Given the description of an element on the screen output the (x, y) to click on. 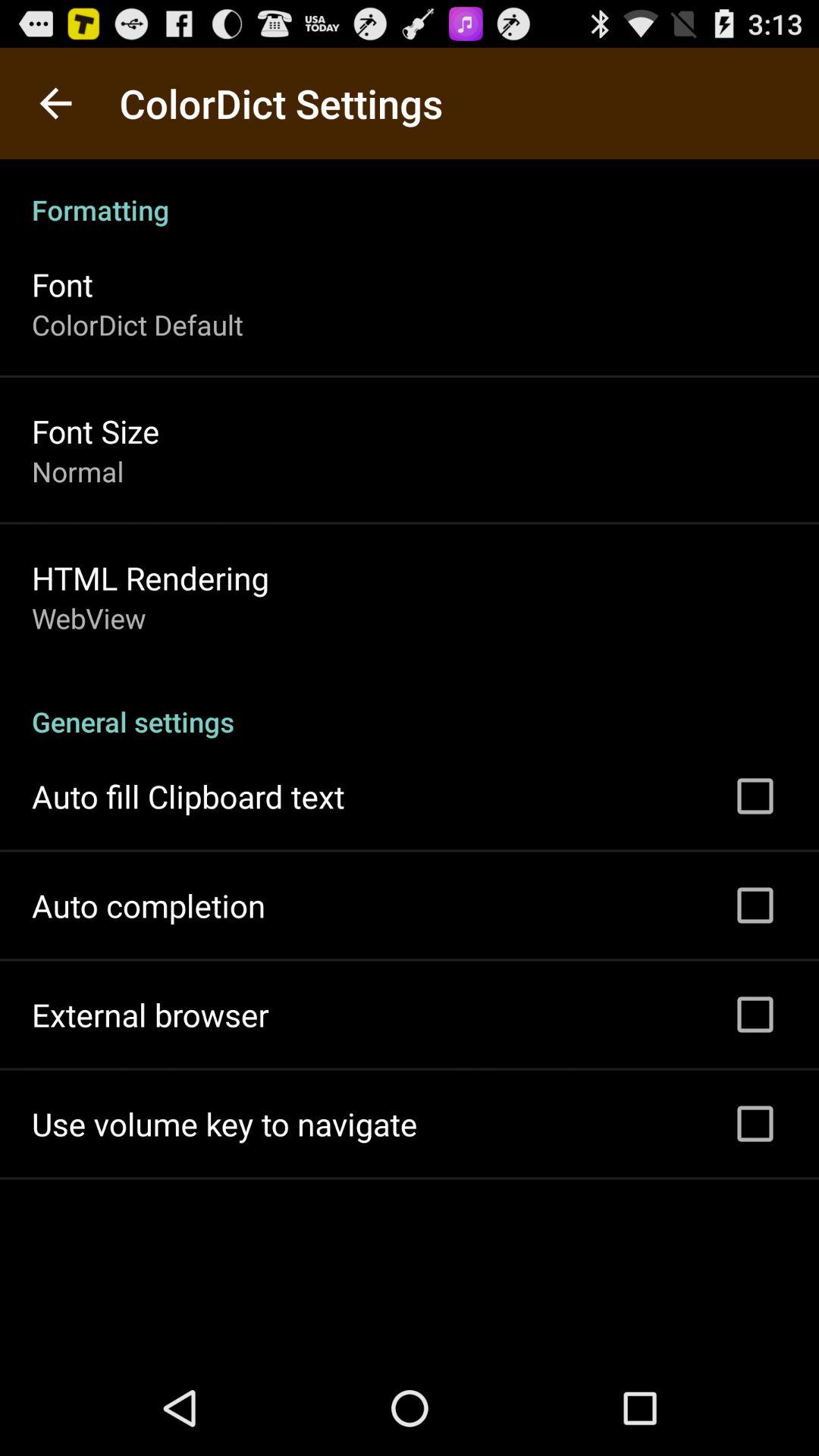
open the app above the formatting (55, 103)
